Given the description of an element on the screen output the (x, y) to click on. 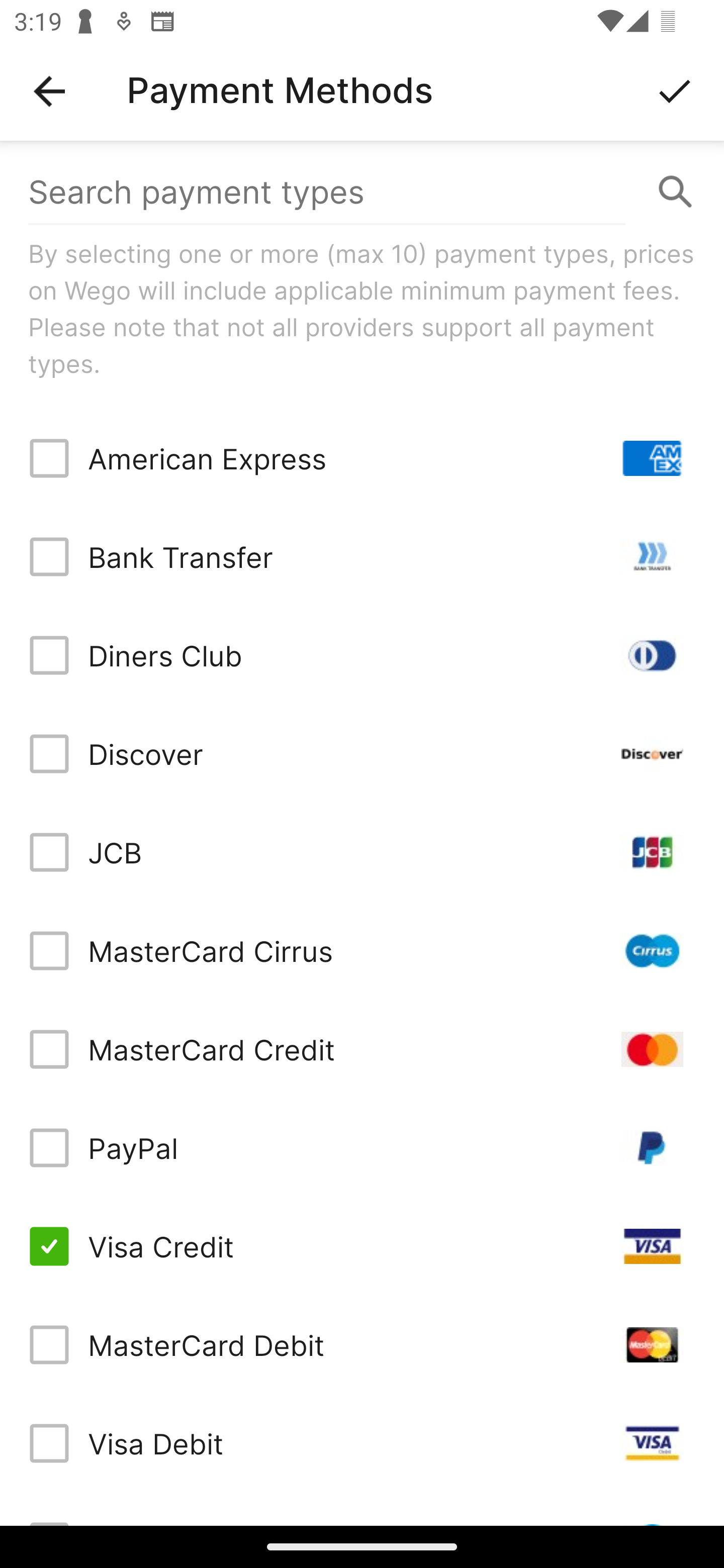
Search payment types  (361, 191)
American Express (362, 458)
Bank Transfer (362, 557)
Diners Club (362, 655)
Discover (362, 753)
JCB (362, 851)
MasterCard Cirrus (362, 950)
MasterCard Credit (362, 1049)
PayPal (362, 1147)
Visa Credit (362, 1245)
MasterCard Debit (362, 1344)
Visa Debit (362, 1442)
